Given the description of an element on the screen output the (x, y) to click on. 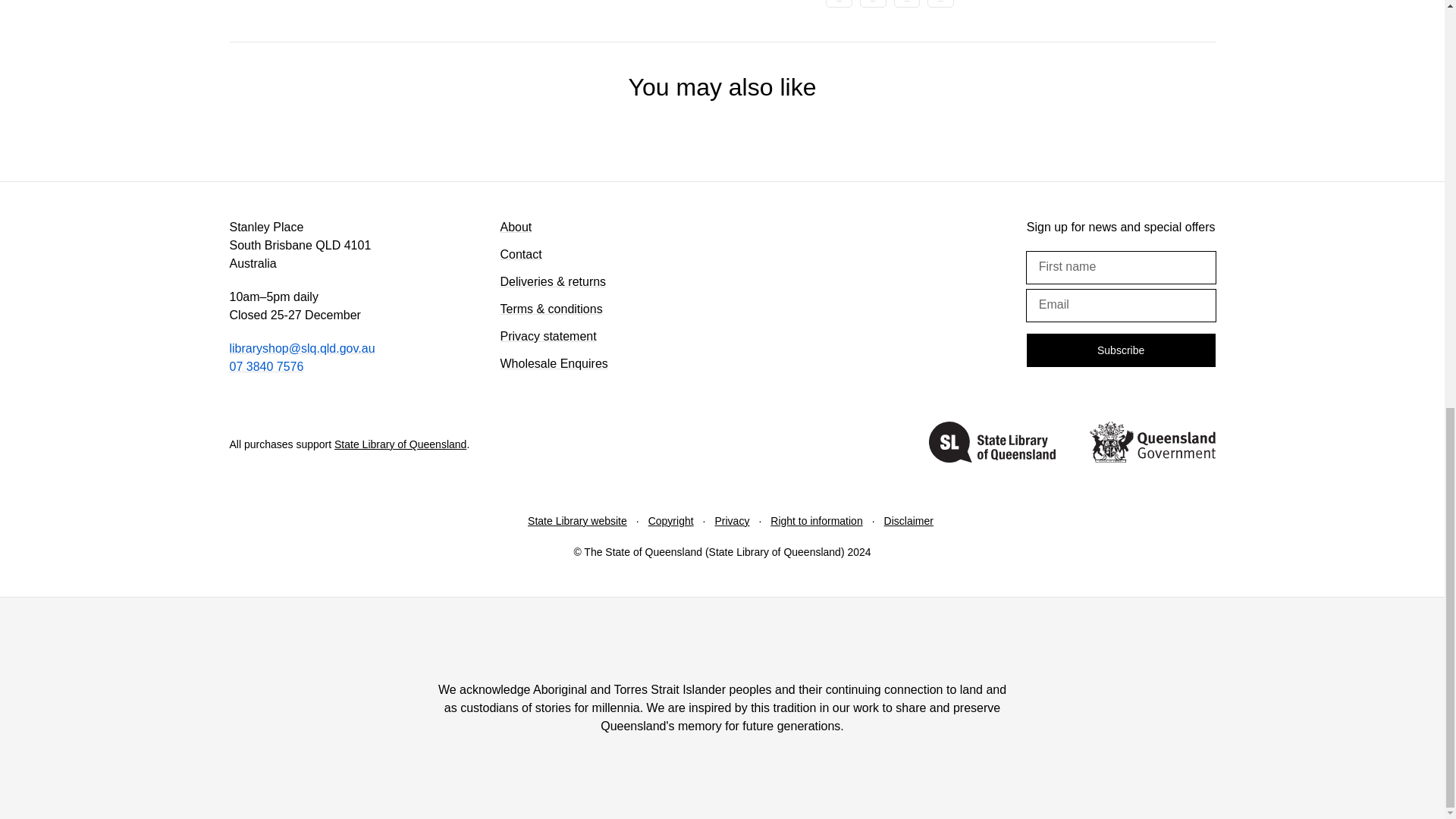
tel:07 3840 7576 (265, 366)
Go to Queensland State Library homepage (992, 444)
Go to Queensland Government homepage (1151, 444)
